Given the description of an element on the screen output the (x, y) to click on. 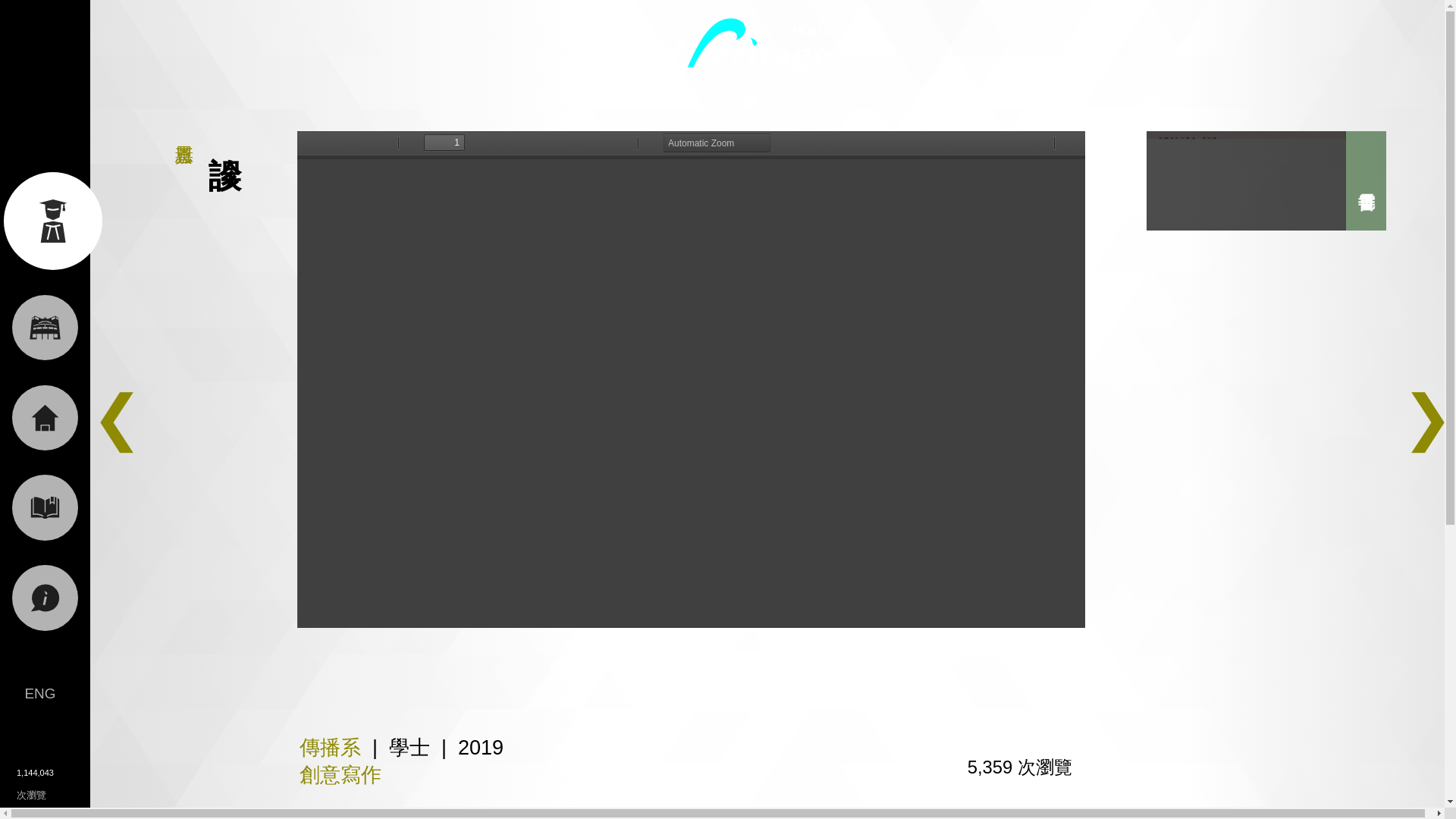
ENG (40, 692)
